Given the description of an element on the screen output the (x, y) to click on. 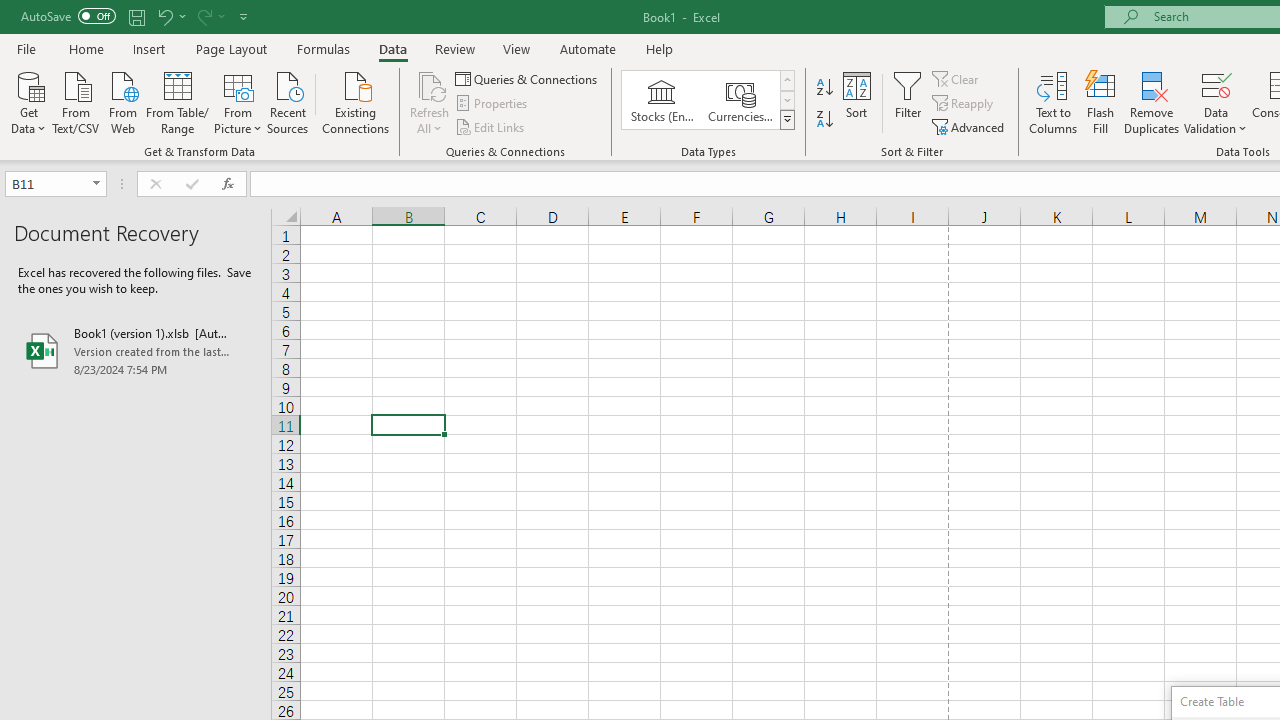
Data Types (786, 120)
Flash Fill (1101, 102)
Sort Z to A (824, 119)
Remove Duplicates (1151, 102)
Get Data (28, 101)
Existing Connections (355, 101)
From Text/CSV (75, 101)
